Given the description of an element on the screen output the (x, y) to click on. 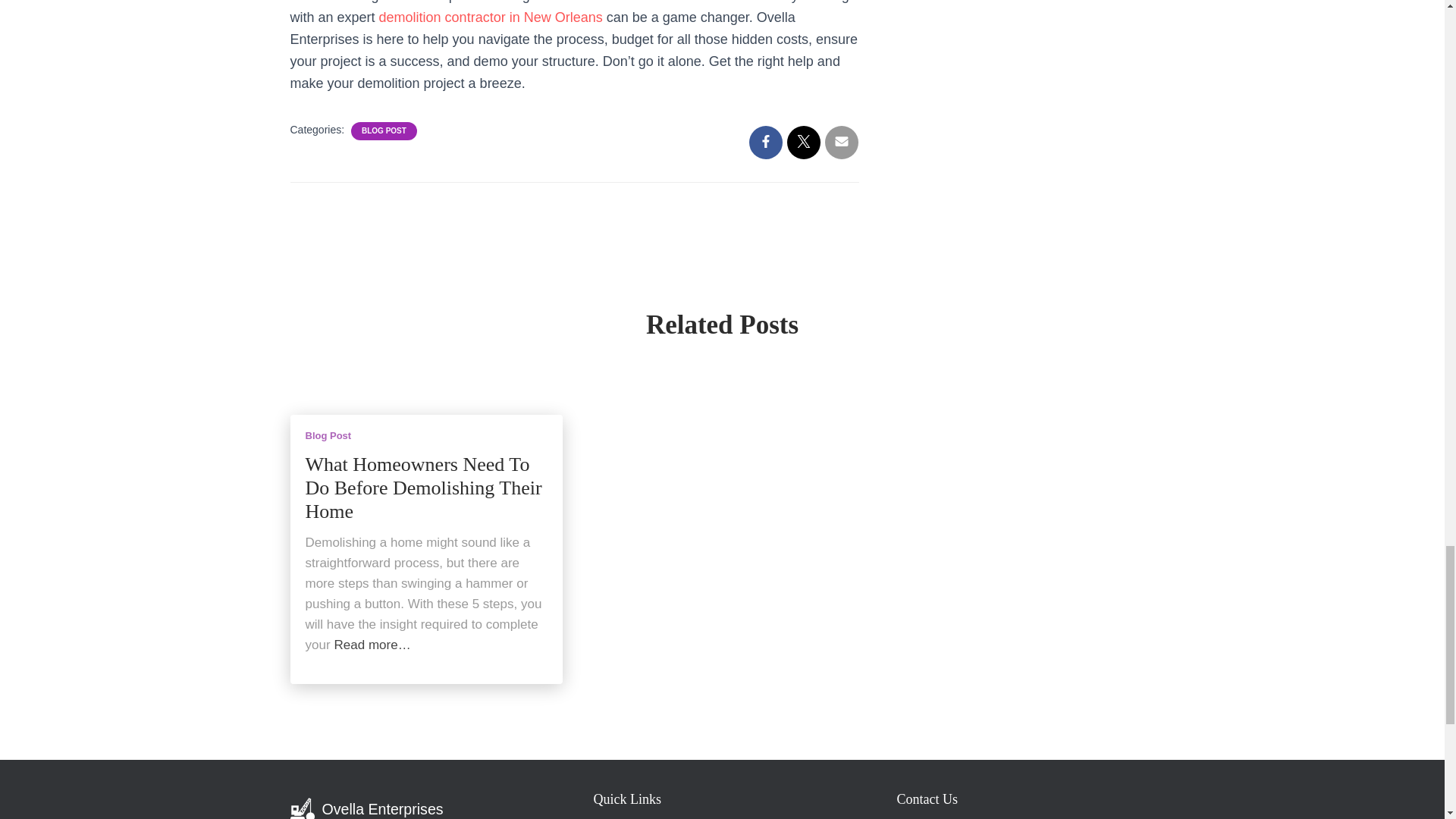
View all posts in Blog Post (327, 435)
demolition contractor in New Orleans (490, 17)
BLOG POST (383, 131)
What Homeowners Need To Do Before Demolishing Their Home (422, 488)
Blog Post (327, 435)
